Given the description of an element on the screen output the (x, y) to click on. 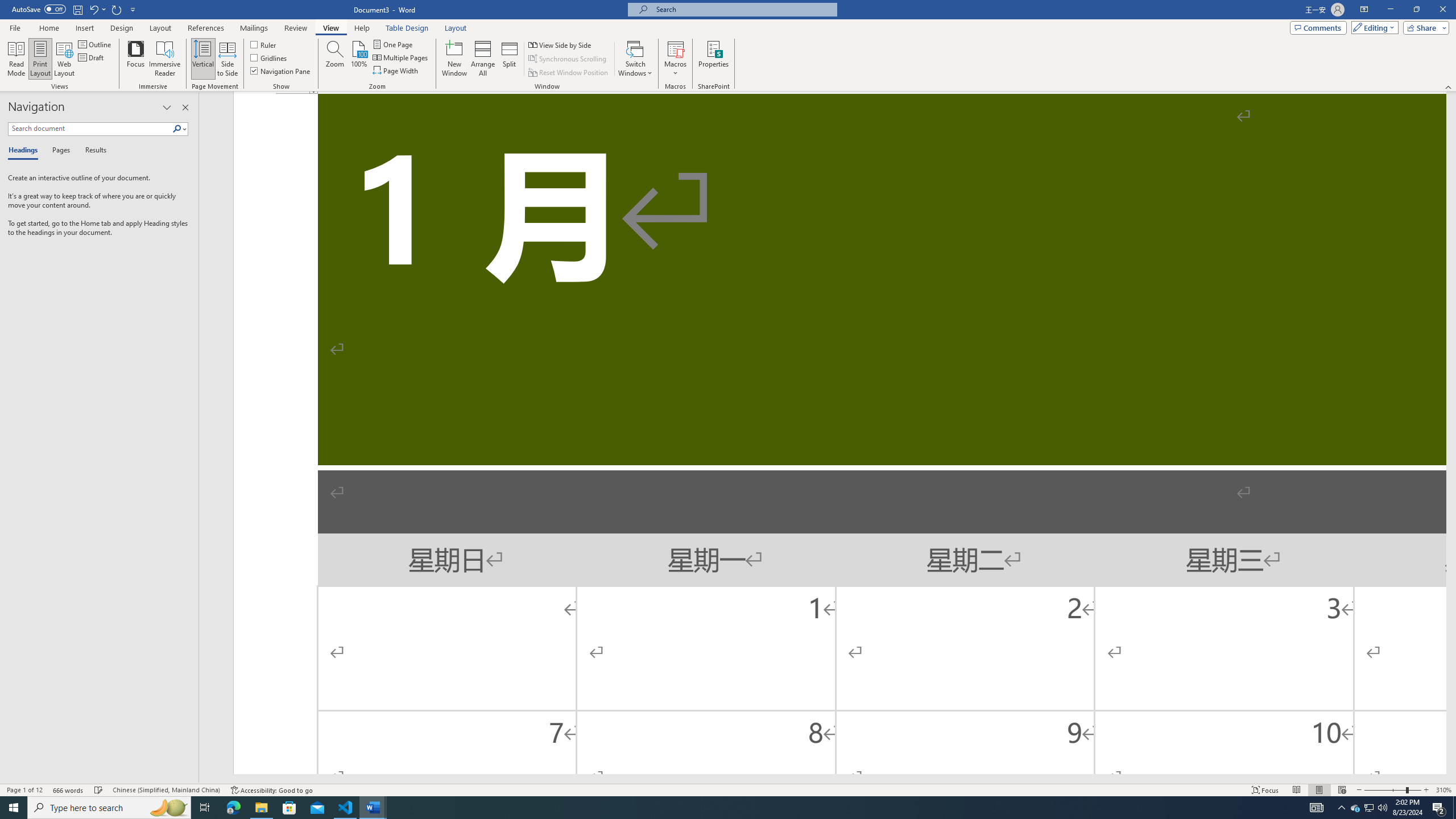
Class: MsoCommandBar (728, 789)
Vertical (202, 58)
Spelling and Grammar Check Checking (98, 790)
Navigation Pane (281, 69)
Switch Windows (635, 58)
Table Design (407, 28)
Ruler (263, 44)
Web Layout (1342, 790)
Home (48, 28)
Undo Increase Indent (96, 9)
Reset Window Position (569, 72)
Side to Side (226, 58)
Microsoft search (742, 9)
